Given the description of an element on the screen output the (x, y) to click on. 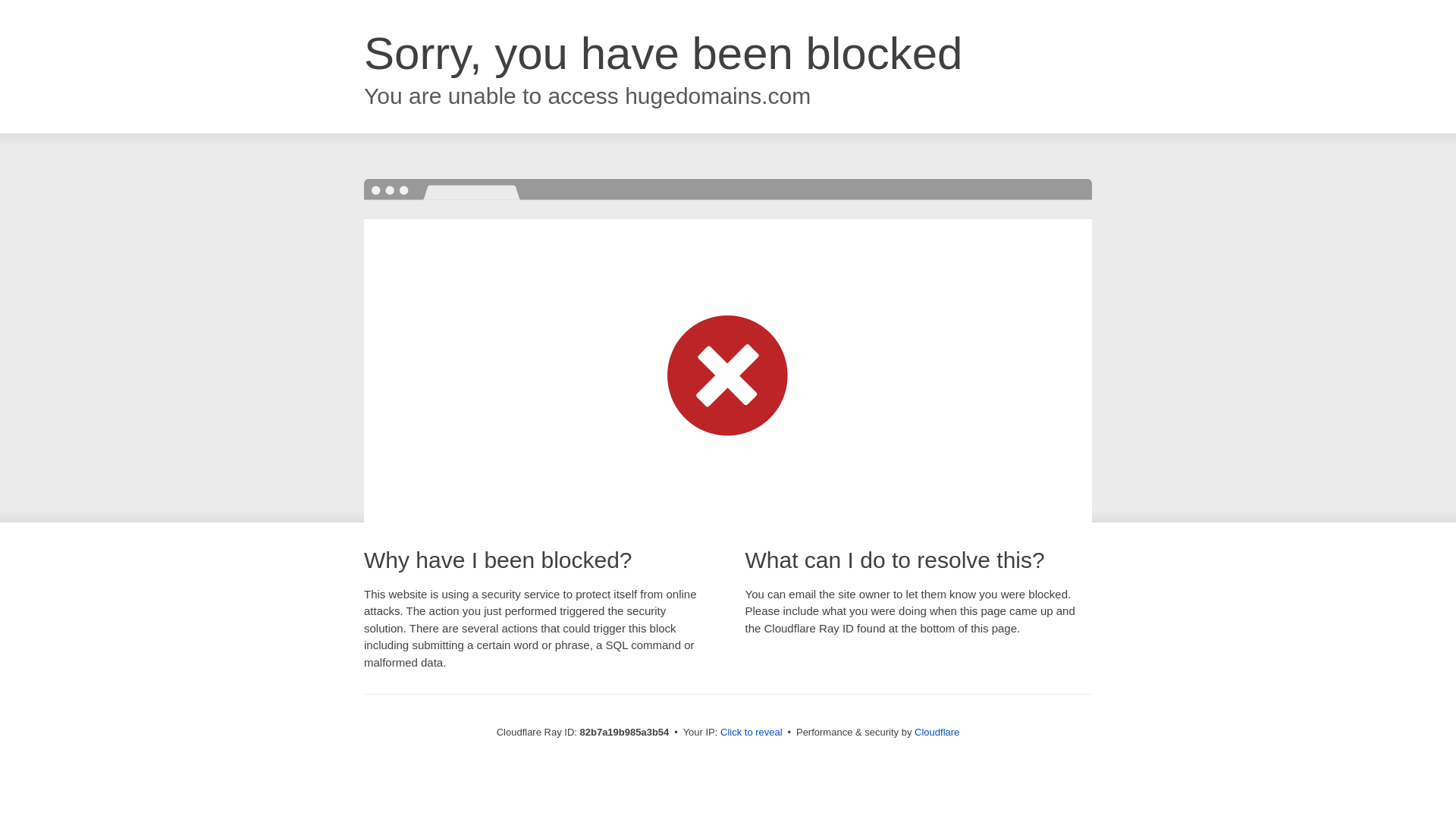
Cloudflare Element type: text (936, 731)
Click to reveal Element type: text (751, 732)
